Given the description of an element on the screen output the (x, y) to click on. 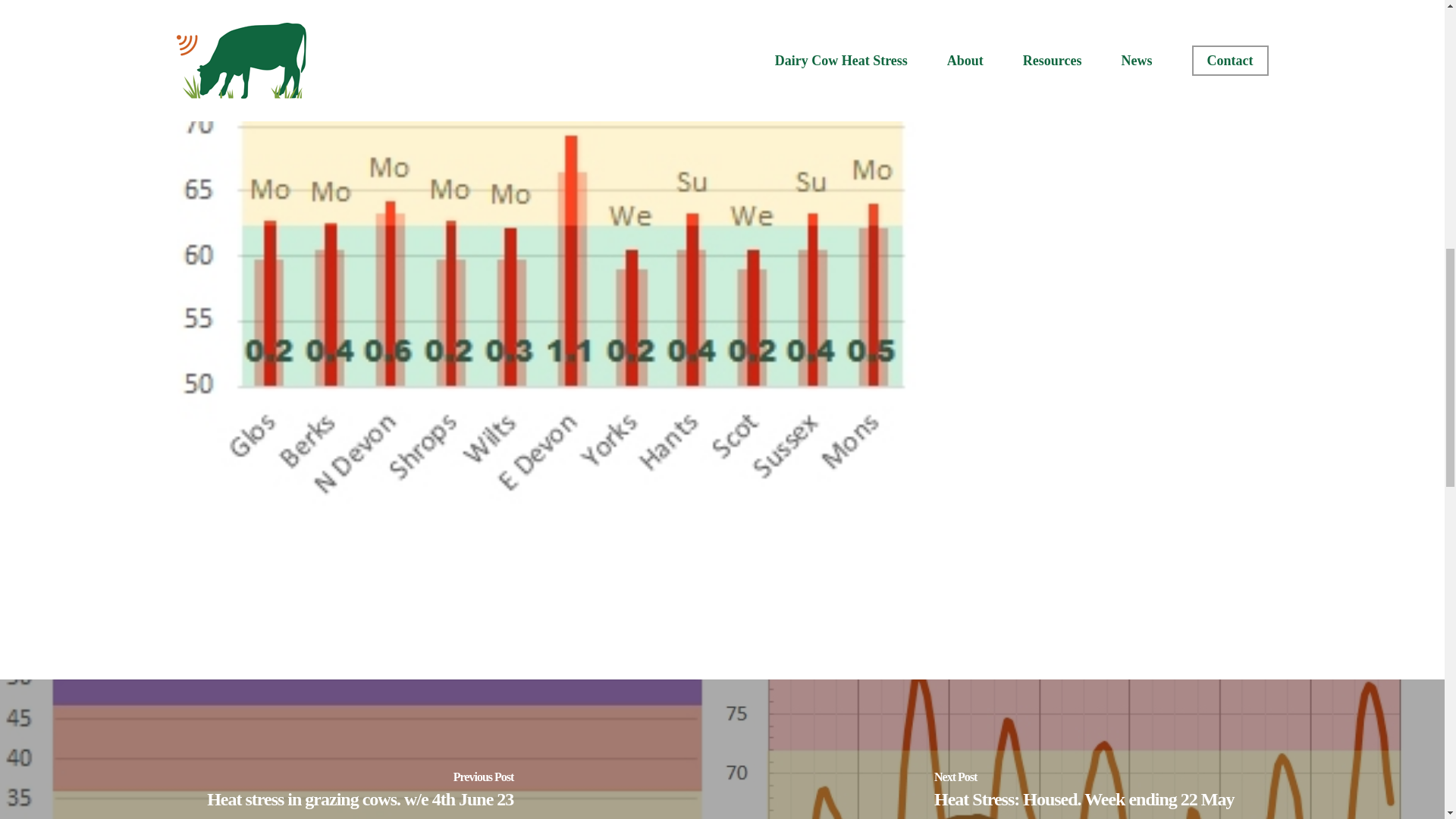
Lallemand Animal Nutrition (1035, 27)
Fertility (992, 4)
Heat Stress (1058, 4)
Heat Wave (1132, 4)
Lallemand (1205, 4)
